Given the description of an element on the screen output the (x, y) to click on. 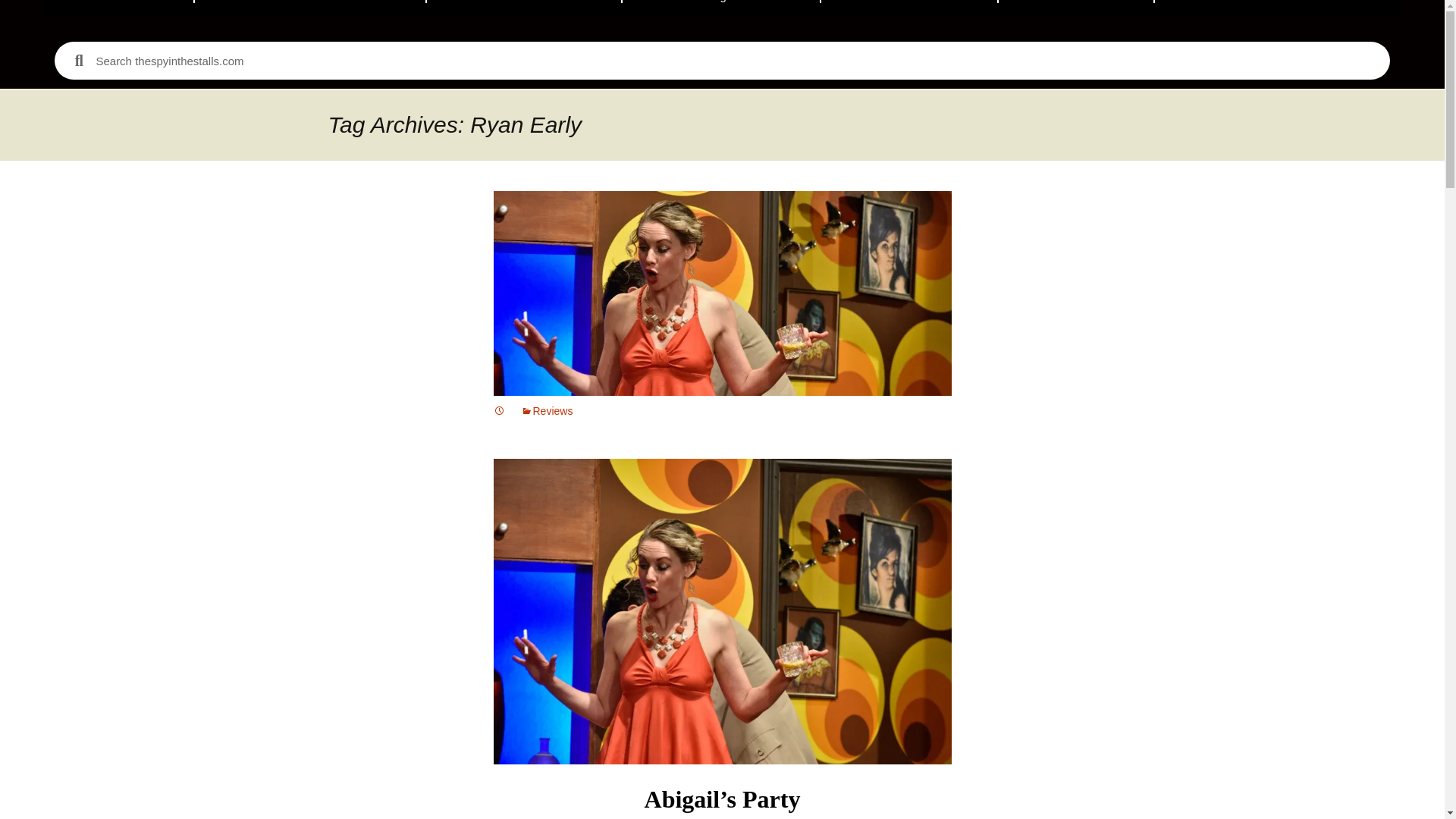
Latest Reviews (523, 8)
Home (119, 8)
Show Index (909, 8)
Edinburgh 2024 (721, 8)
Archive (1075, 8)
Recommended Shows (310, 8)
